Given the description of an element on the screen output the (x, y) to click on. 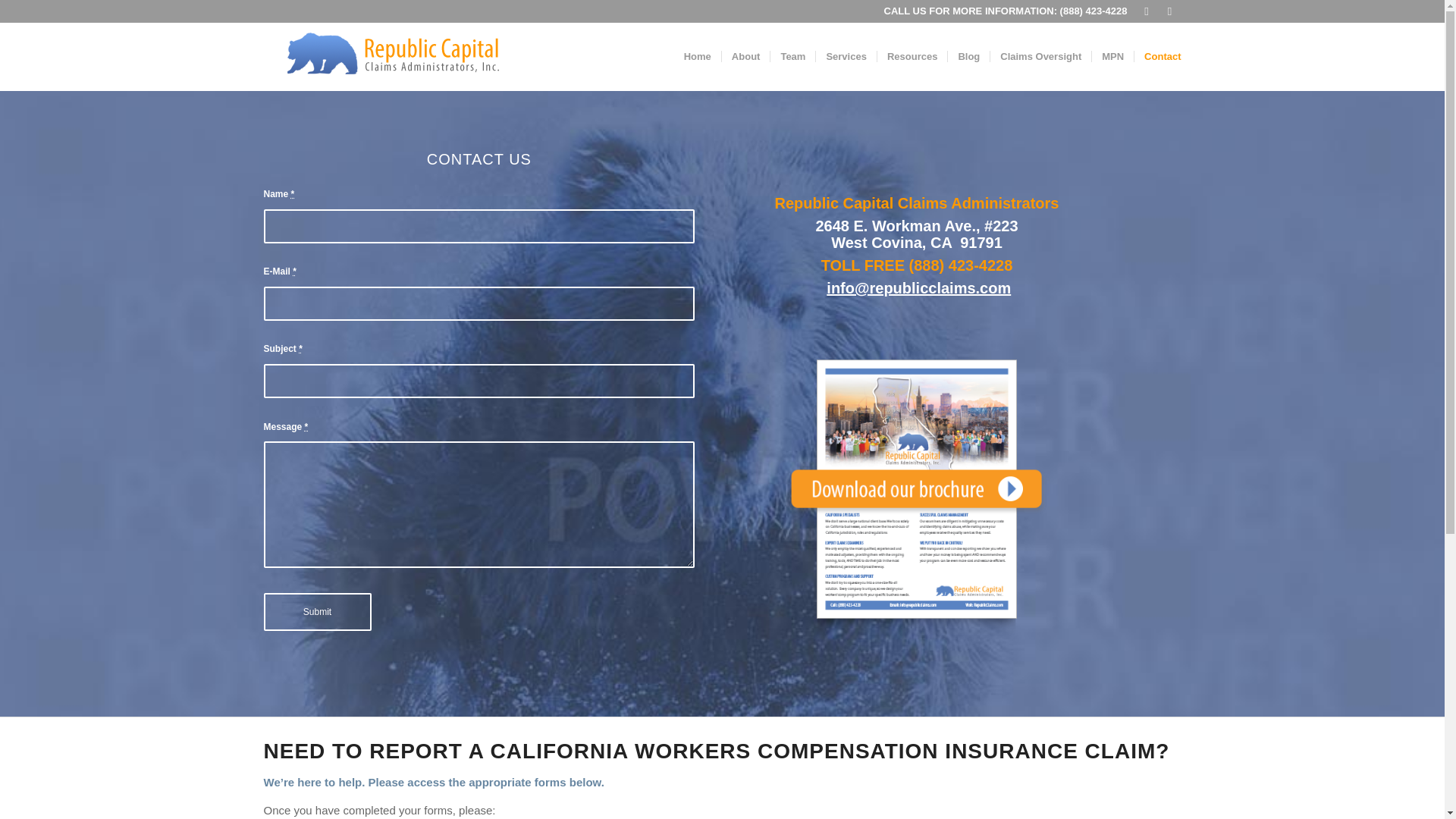
Services (845, 56)
Submit (317, 611)
Resources (911, 56)
Linkedin (1146, 11)
Submit (317, 611)
Twitter (1169, 11)
Claims Oversight (1040, 56)
